Given the description of an element on the screen output the (x, y) to click on. 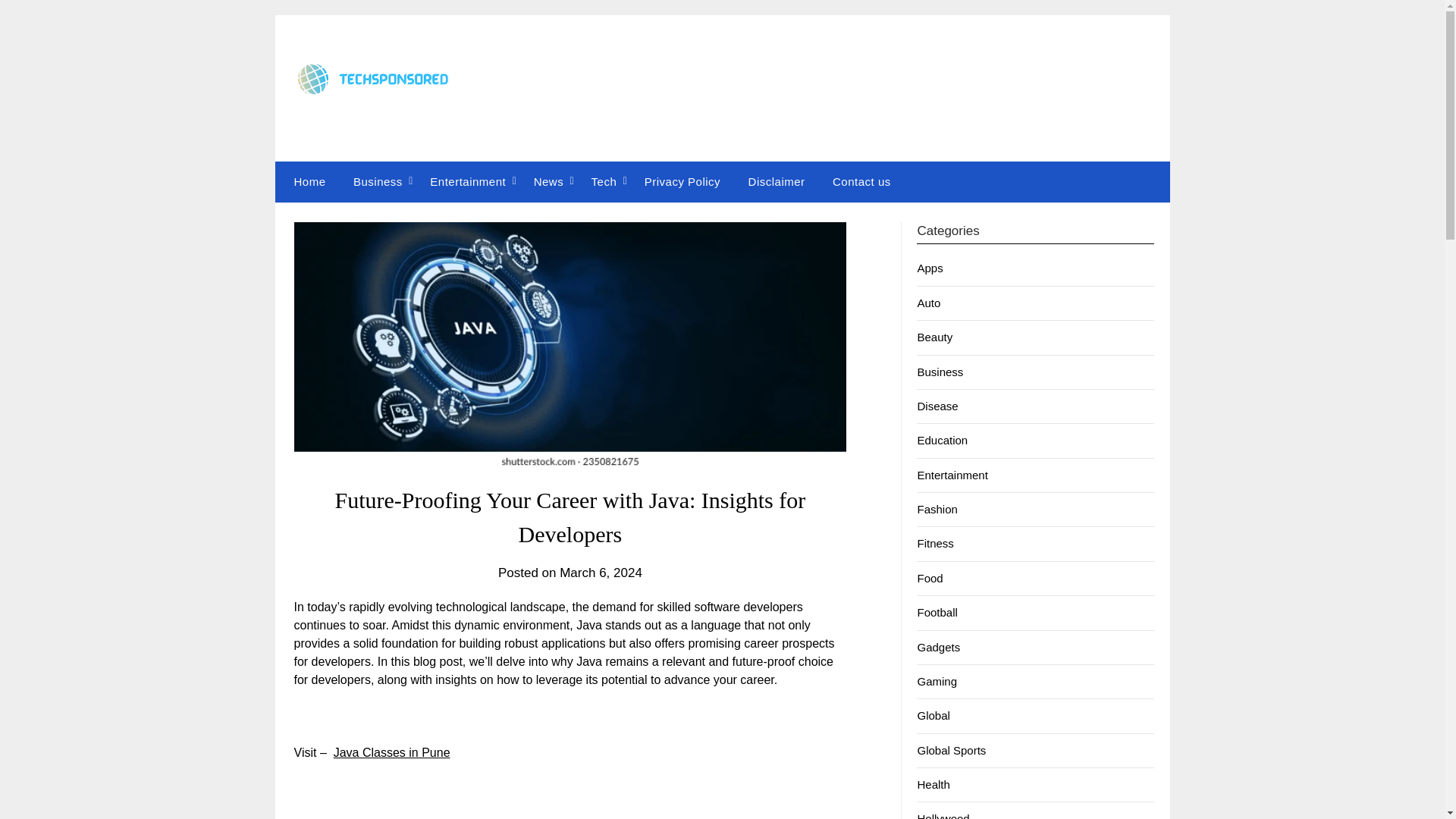
Entertainment (952, 474)
Entertainment (467, 181)
Education (942, 440)
Disease (937, 405)
Privacy Policy (681, 181)
Football (936, 612)
Fashion (936, 508)
Business (939, 371)
Java Classes in Pune (391, 752)
Fitness (935, 543)
